Given the description of an element on the screen output the (x, y) to click on. 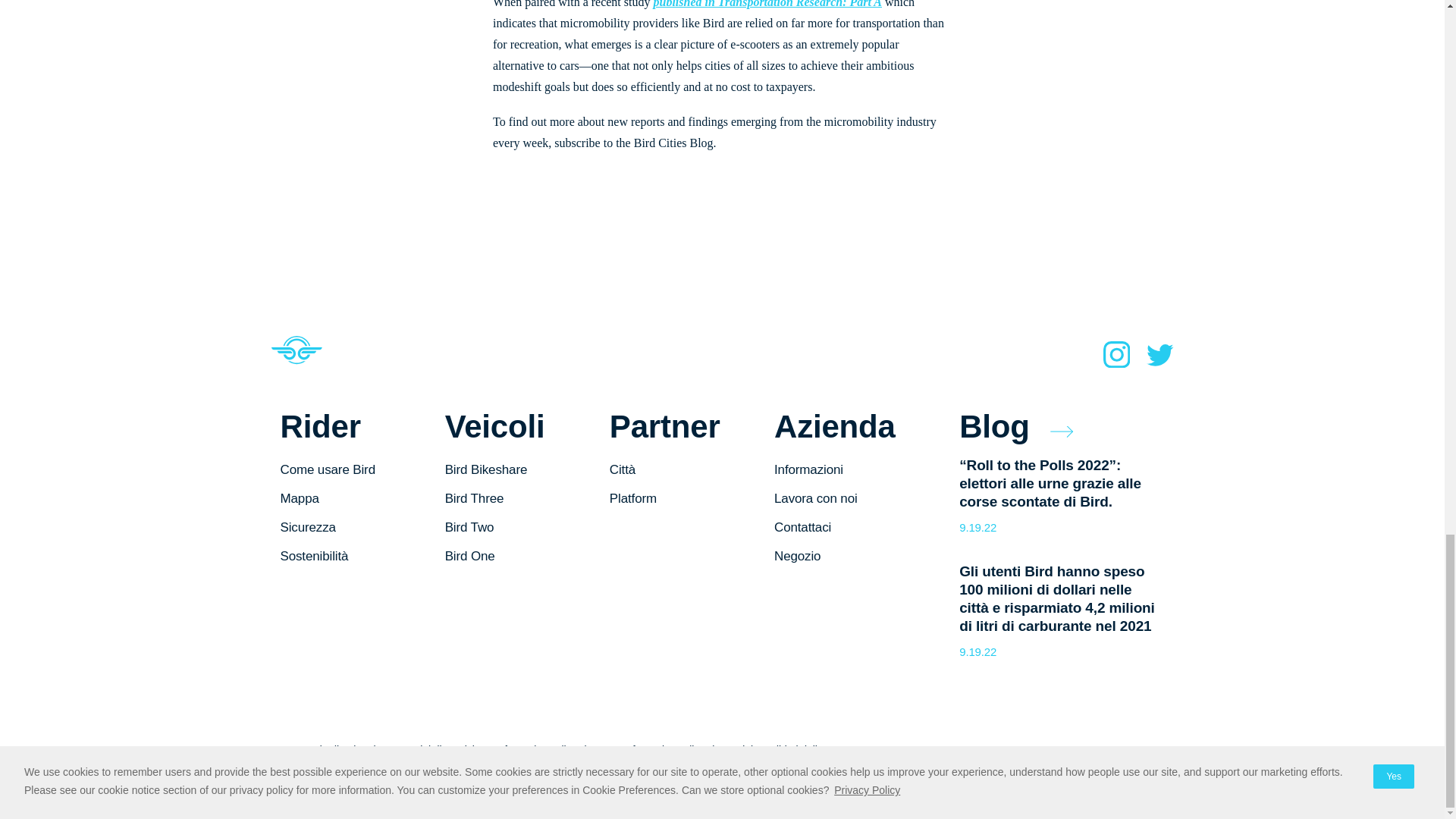
Navigate to home page (295, 359)
Bird Three (474, 498)
Bird (295, 359)
Bird Bikeshare (486, 469)
published in Transportation Research: Part A (767, 4)
Mappa (299, 498)
Bird Two (470, 527)
Blog (1016, 426)
Come usare Bird (328, 469)
Sicurezza (308, 527)
